Given the description of an element on the screen output the (x, y) to click on. 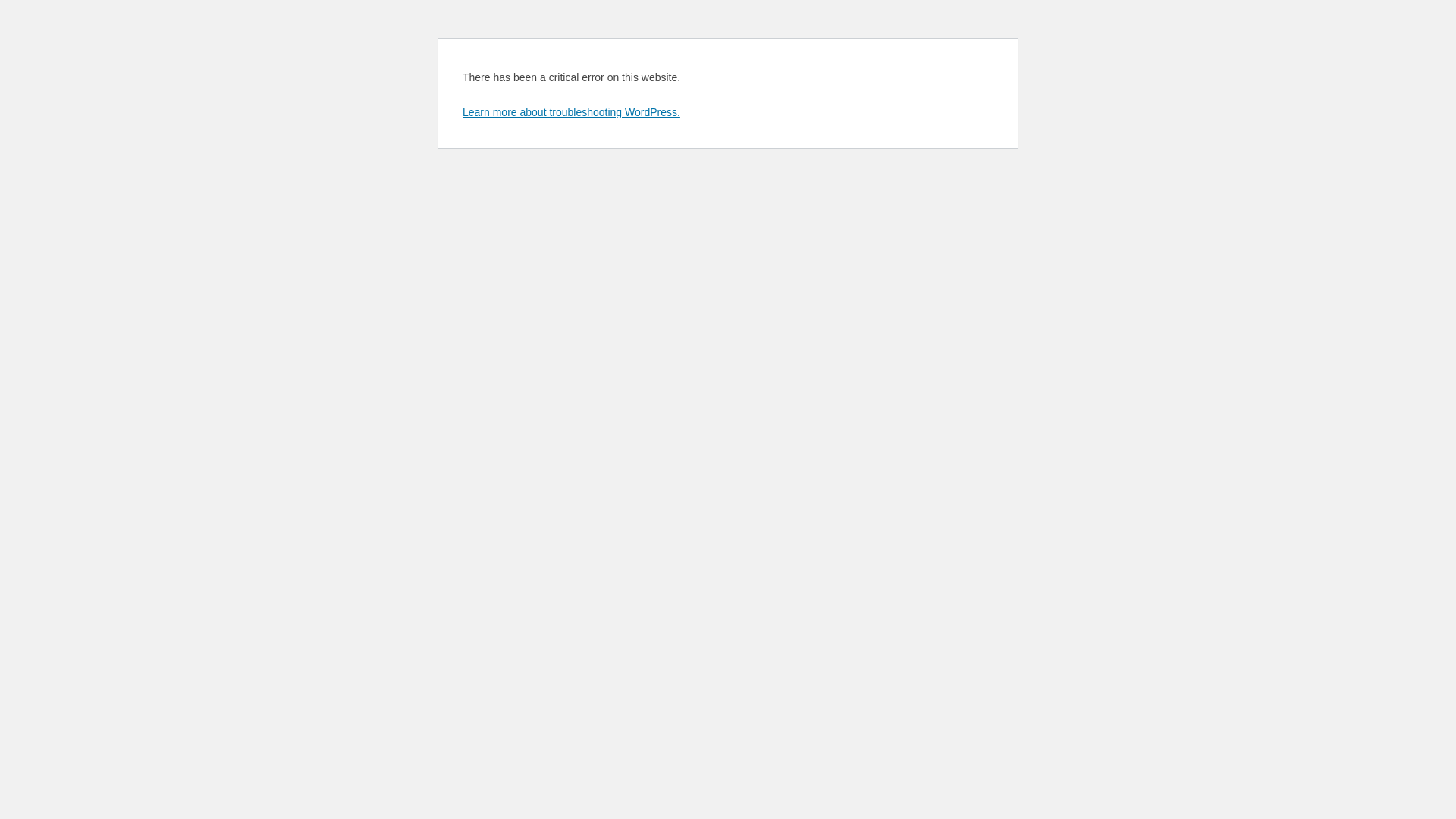
Learn more about troubleshooting WordPress. Element type: text (571, 112)
